Given the description of an element on the screen output the (x, y) to click on. 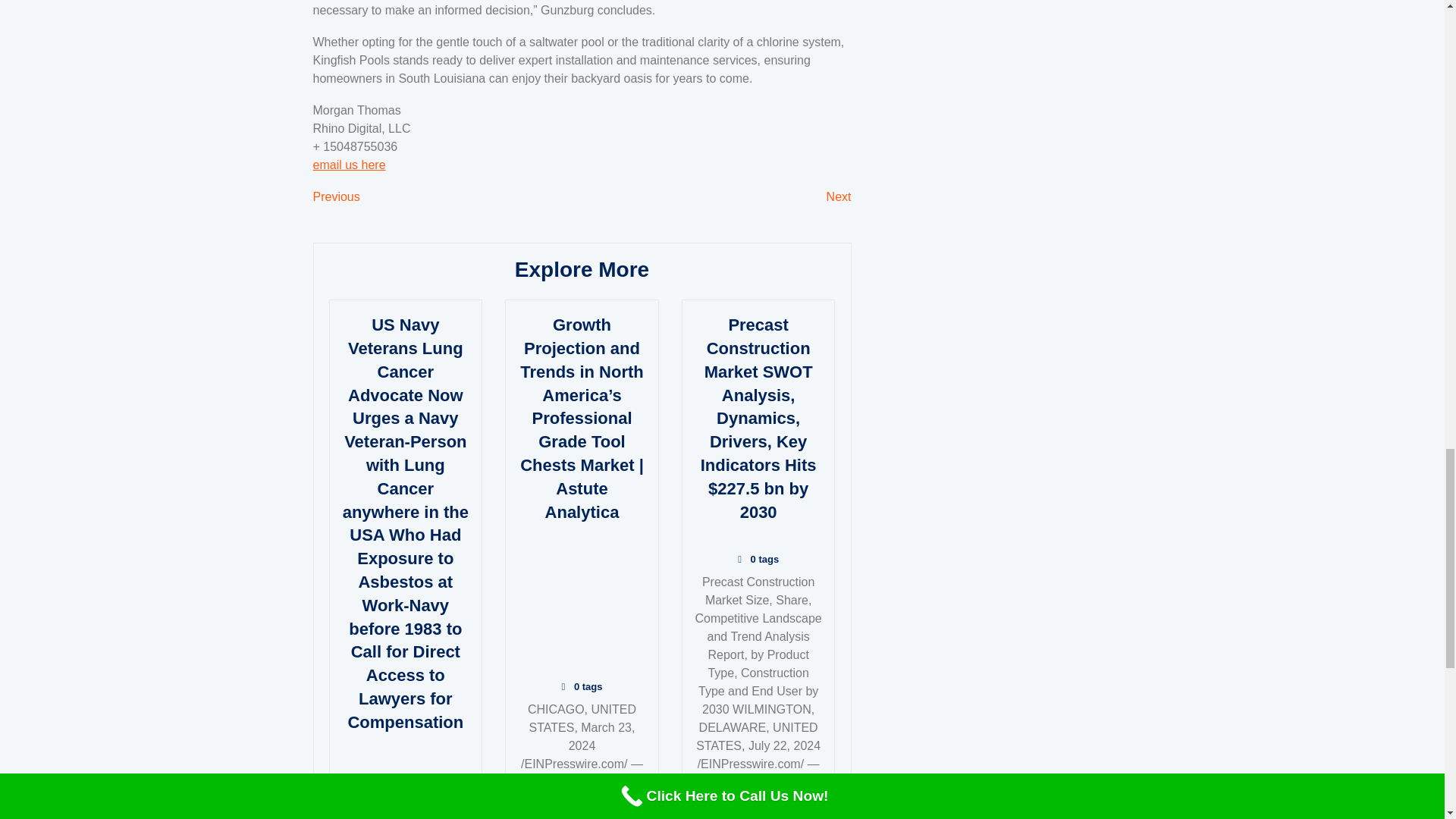
email us here (336, 195)
Read More (349, 164)
